Given the description of an element on the screen output the (x, y) to click on. 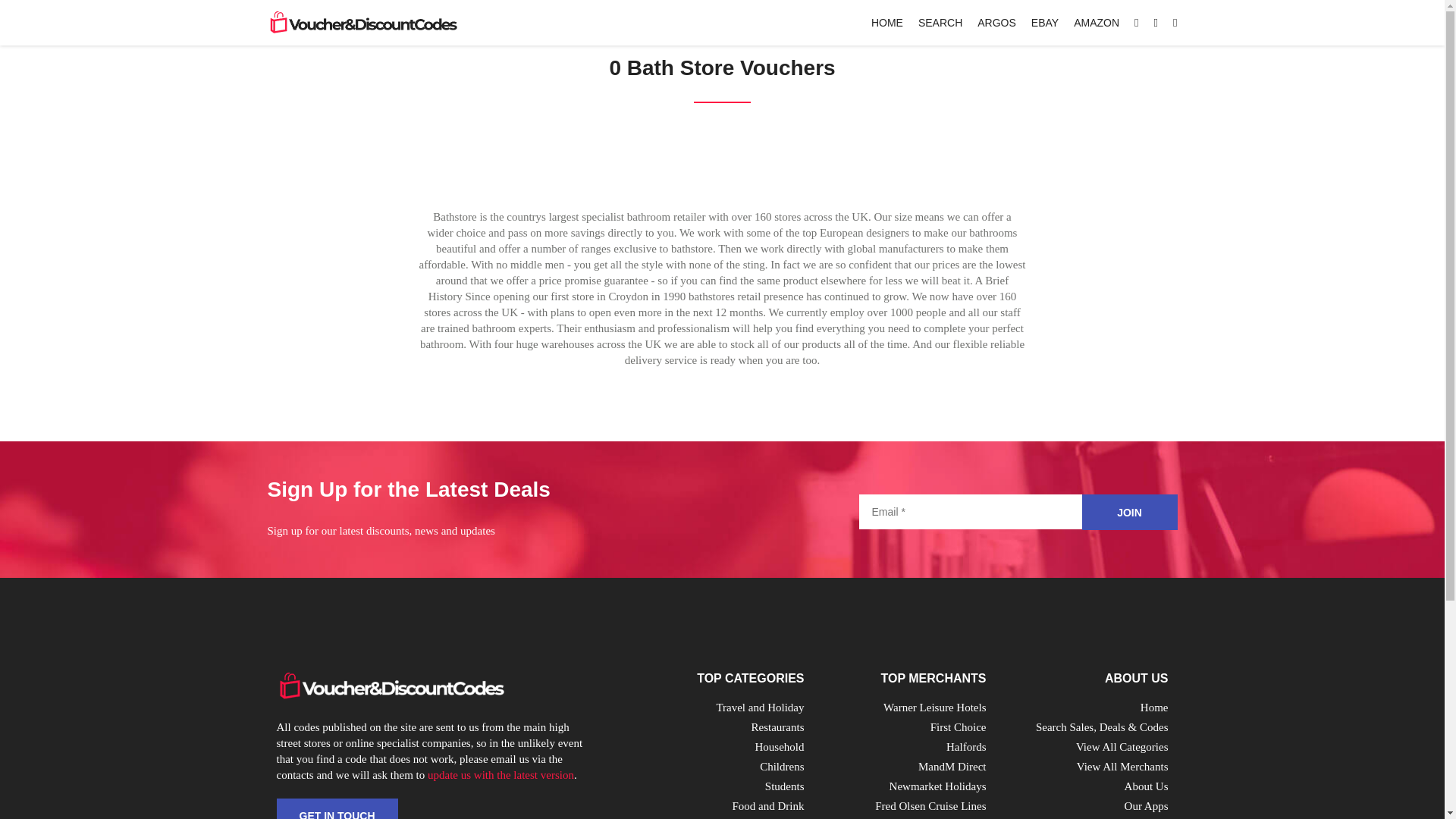
AMAZON (1096, 22)
Travel and Holiday (759, 707)
HOME (886, 22)
Food and Drink (768, 806)
GET IN TOUCH (336, 808)
update us with the latest version (500, 775)
EBAY (1044, 22)
SEARCH (940, 22)
Childrens (781, 766)
Students (785, 786)
